Given the description of an element on the screen output the (x, y) to click on. 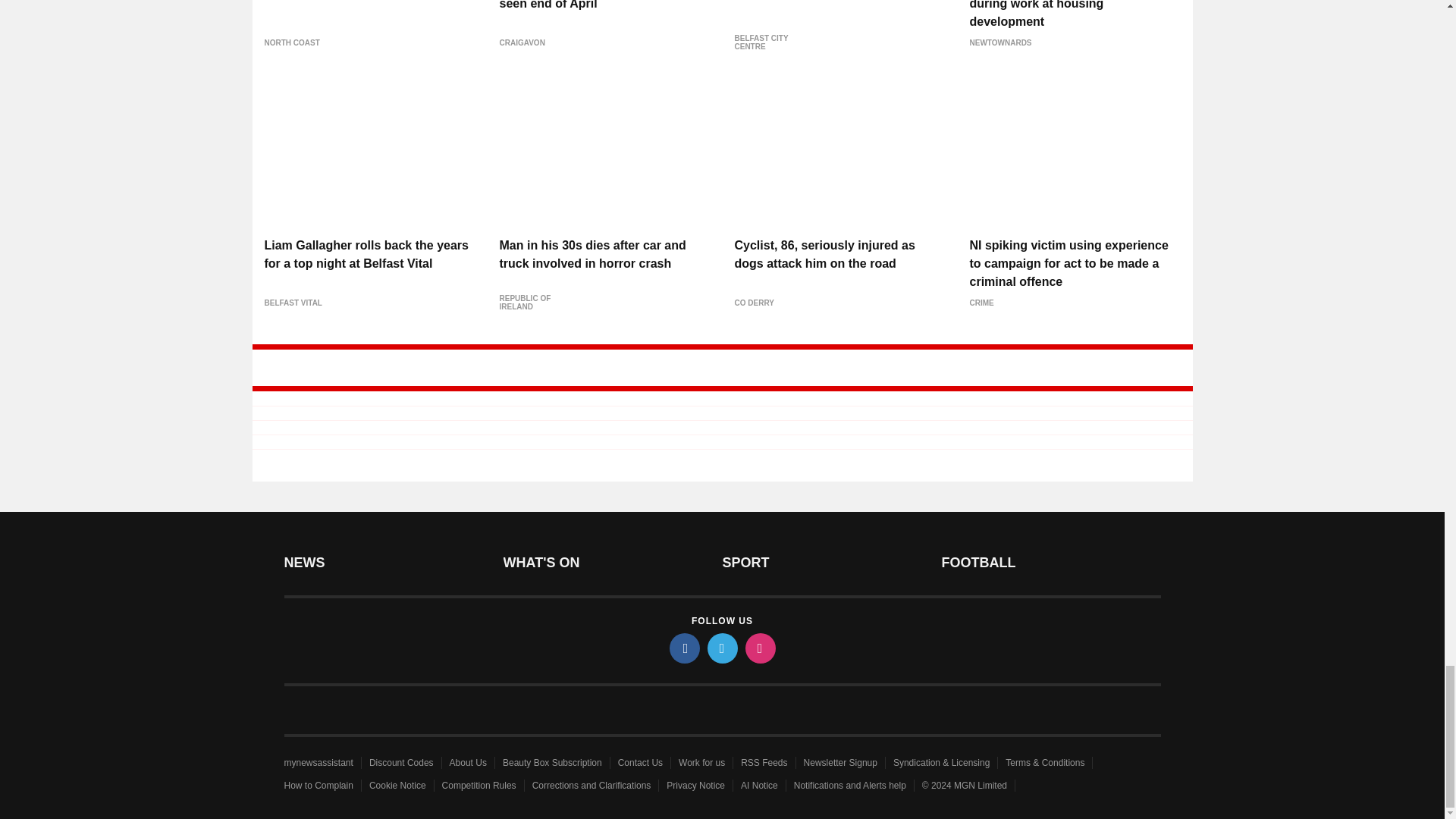
instagram (759, 648)
twitter (721, 648)
facebook (683, 648)
